Given the description of an element on the screen output the (x, y) to click on. 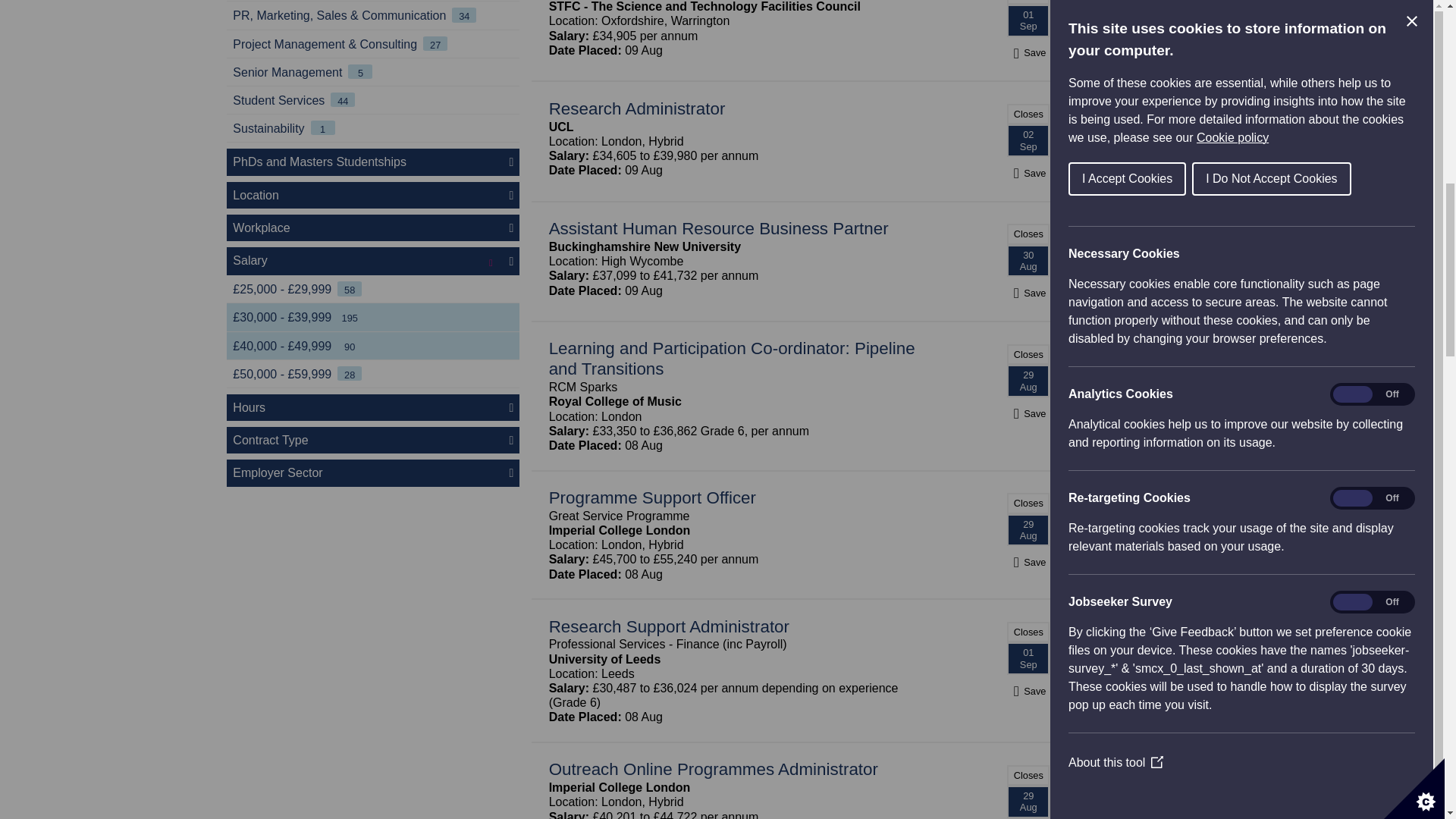
Save job (1027, 172)
Save job (1027, 413)
Save job (1027, 52)
Save job (1027, 690)
Save job (1027, 561)
Save job (1027, 292)
